Given the description of an element on the screen output the (x, y) to click on. 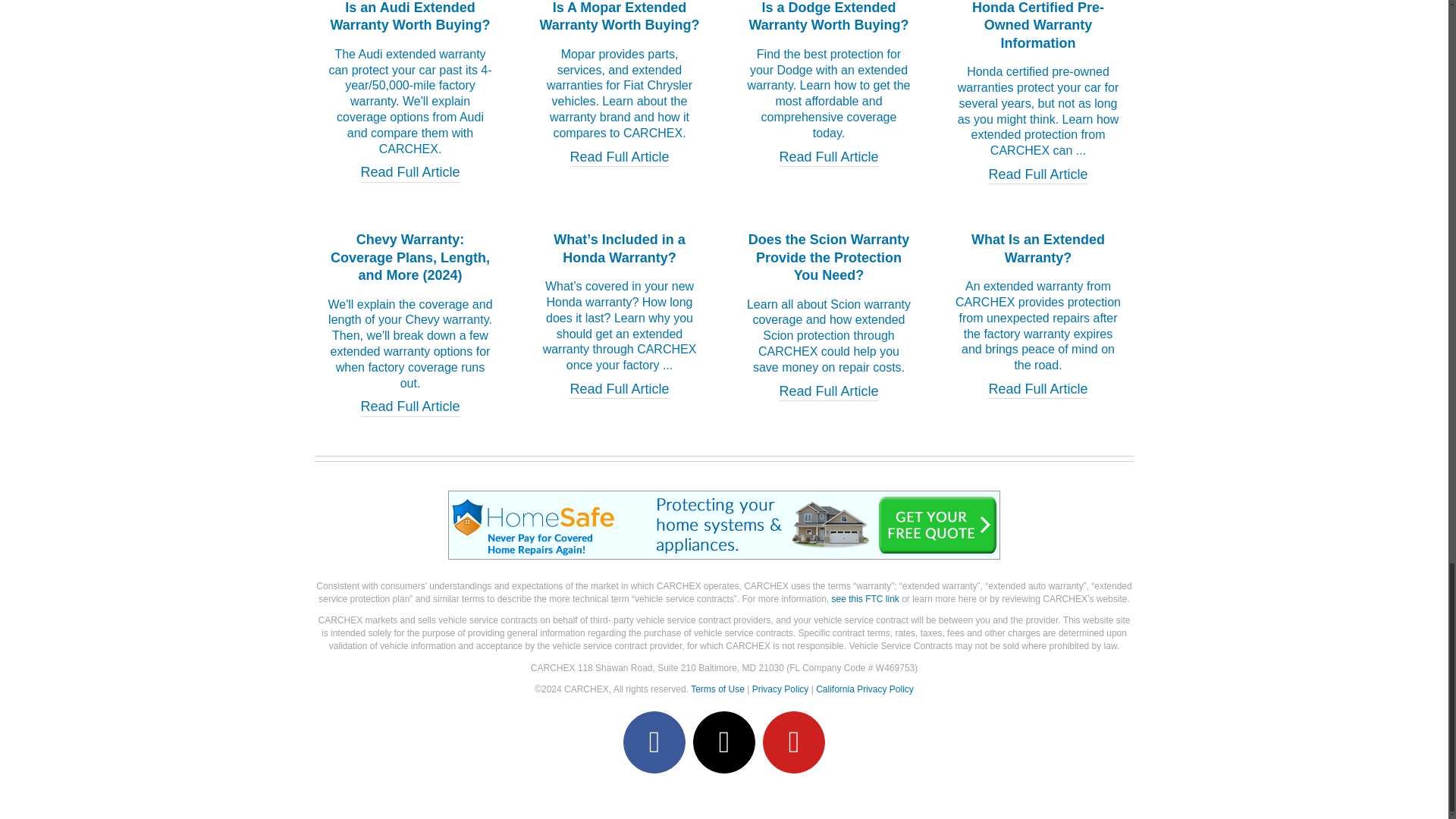
X (724, 742)
YouTube (793, 742)
Facebook (654, 742)
